Given the description of an element on the screen output the (x, y) to click on. 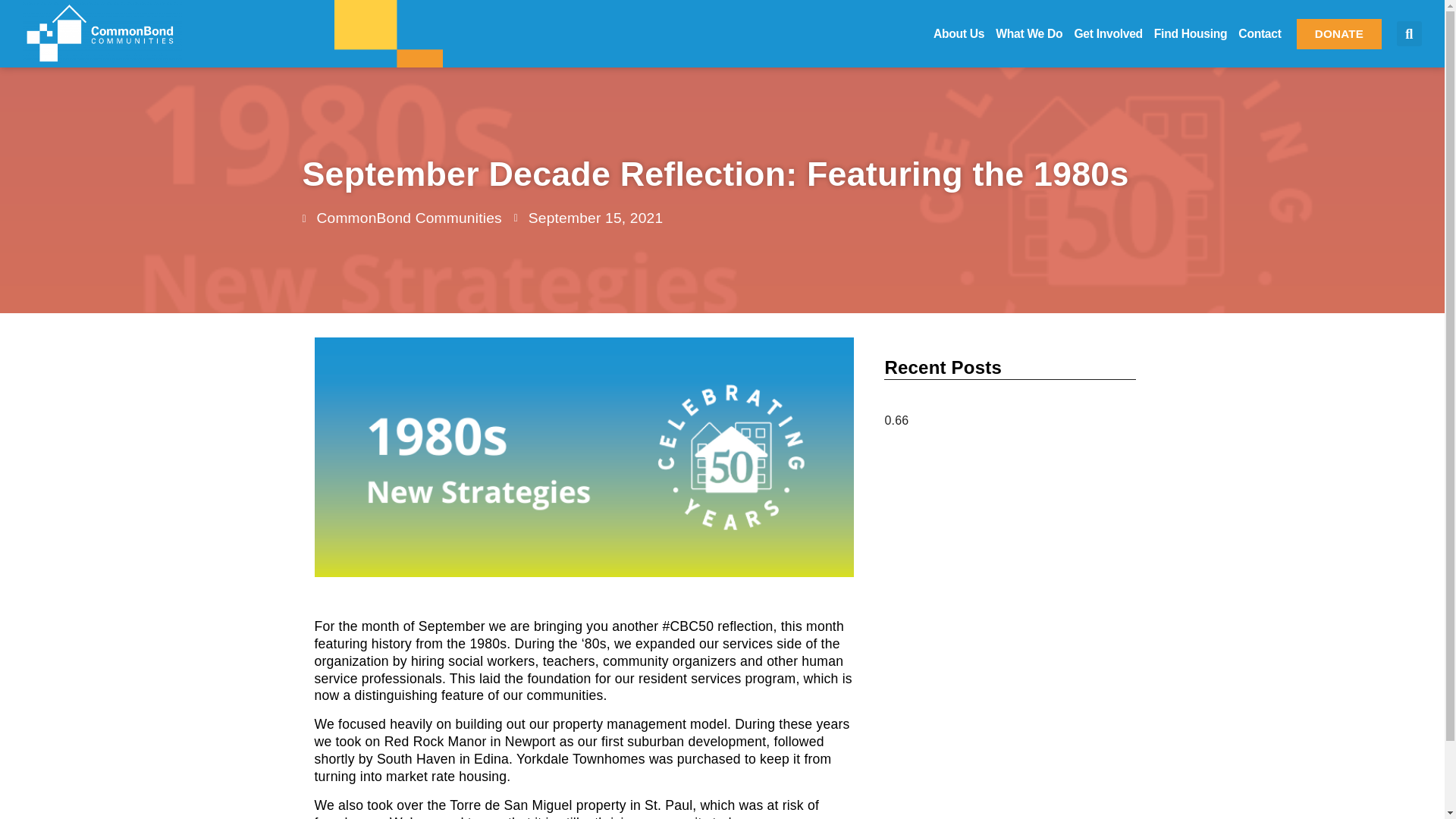
About Us (958, 33)
Get Involved (1107, 33)
Contact (1260, 33)
Find Housing (1190, 33)
What We Do (1028, 33)
